Given the description of an element on the screen output the (x, y) to click on. 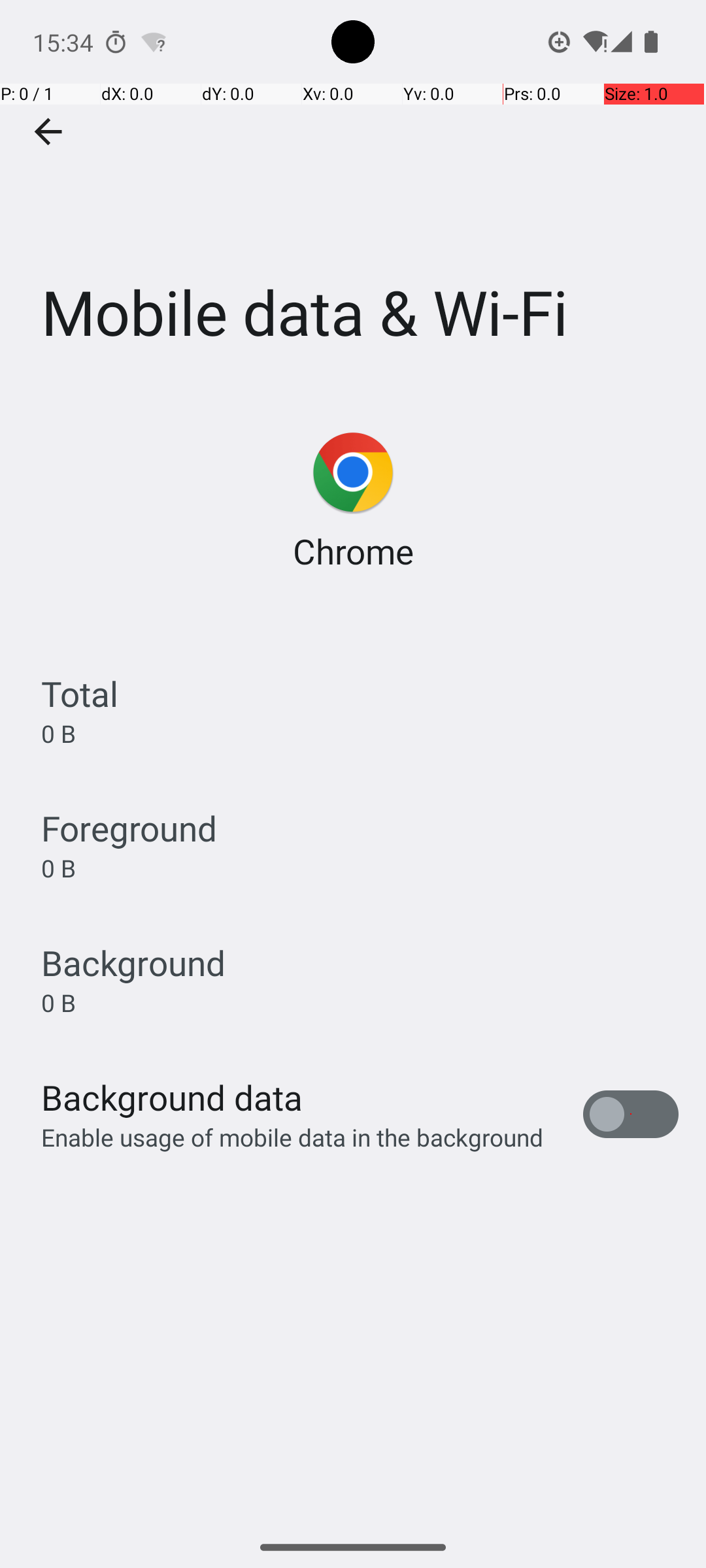
Background data Element type: android.widget.TextView (171, 1097)
Enable usage of mobile data in the background Element type: android.widget.TextView (292, 1136)
